Given the description of an element on the screen output the (x, y) to click on. 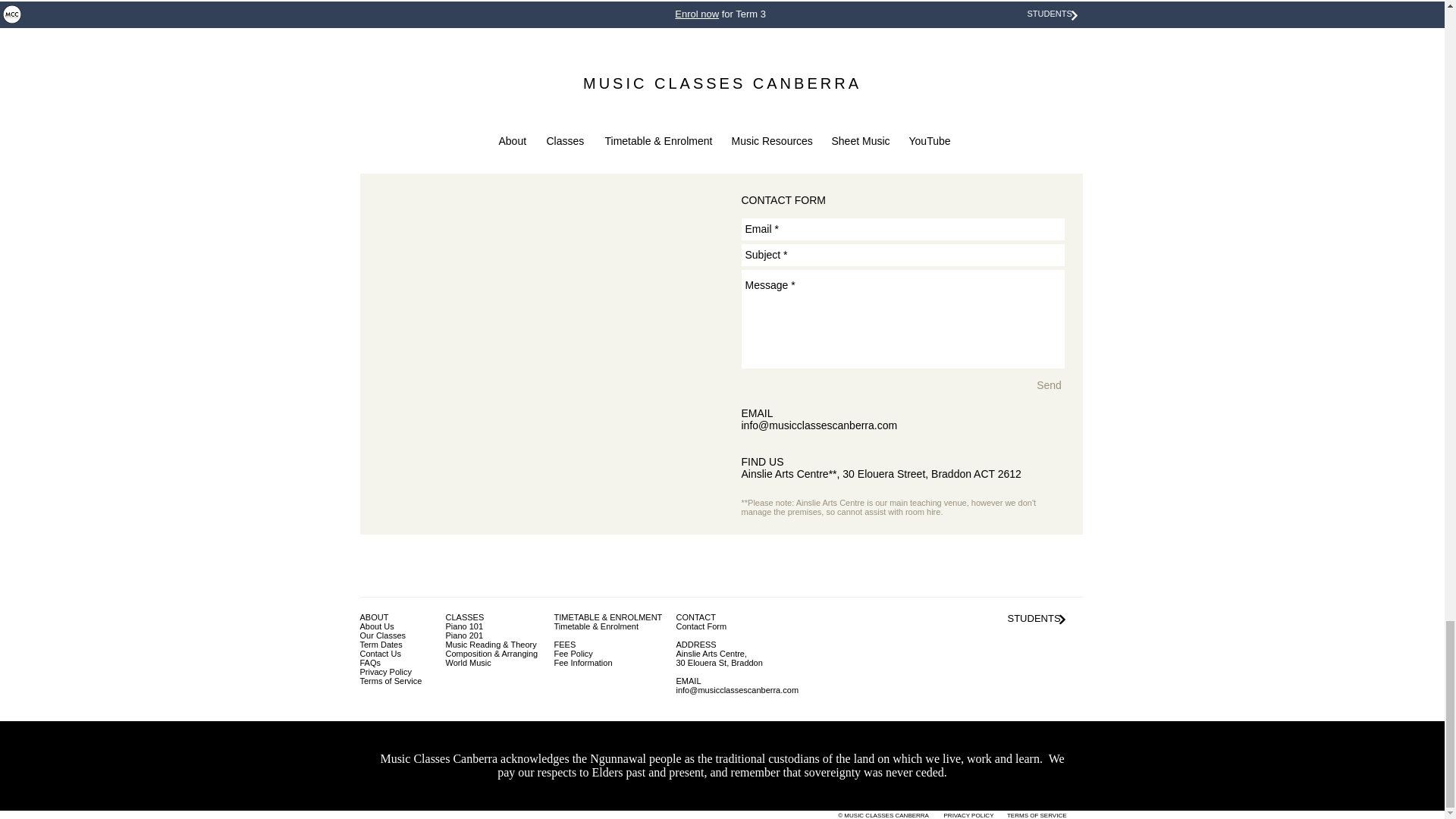
Send (1048, 385)
ABOUT (373, 616)
